Given the description of an element on the screen output the (x, y) to click on. 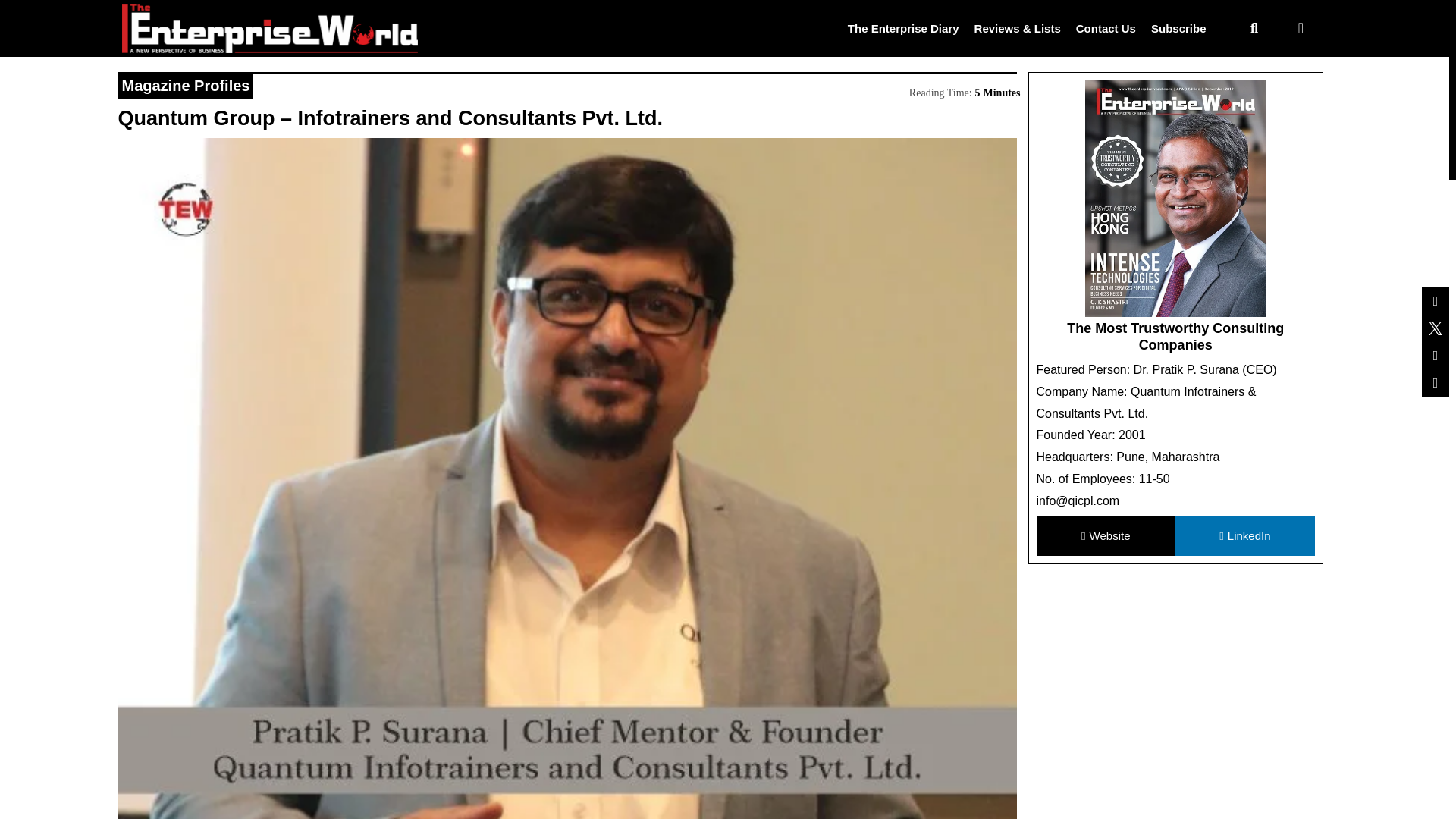
Magazine Profiles (184, 85)
The Most Trustworthy Consulting Companies (1175, 336)
The Enterprise Diary (903, 28)
Subscribe (1179, 28)
Contact Us (1105, 28)
LinkedIn (1244, 536)
Website (1104, 536)
